Given the description of an element on the screen output the (x, y) to click on. 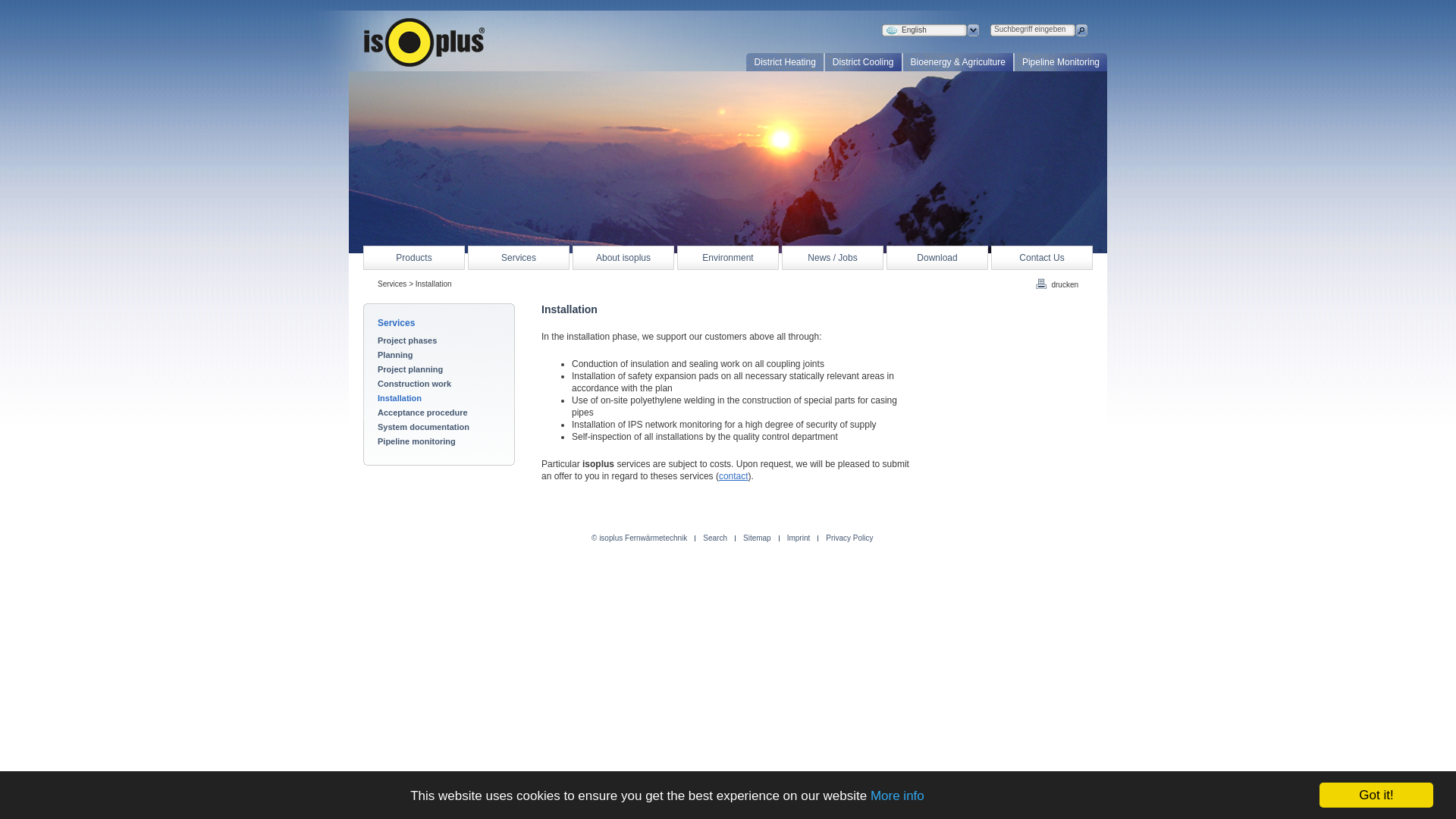
District Cooling (862, 62)
Construction work (438, 383)
District Heating (783, 62)
Products (413, 257)
Download (937, 257)
Pipeline monitoring (438, 440)
Services (518, 257)
isoplus (424, 42)
Installation (438, 397)
Contact Us (1042, 257)
Acceptance procedure (438, 411)
Project phases (438, 339)
Suchbegriff eingeben (1032, 29)
Planning (438, 354)
Environment (727, 257)
